Given the description of an element on the screen output the (x, y) to click on. 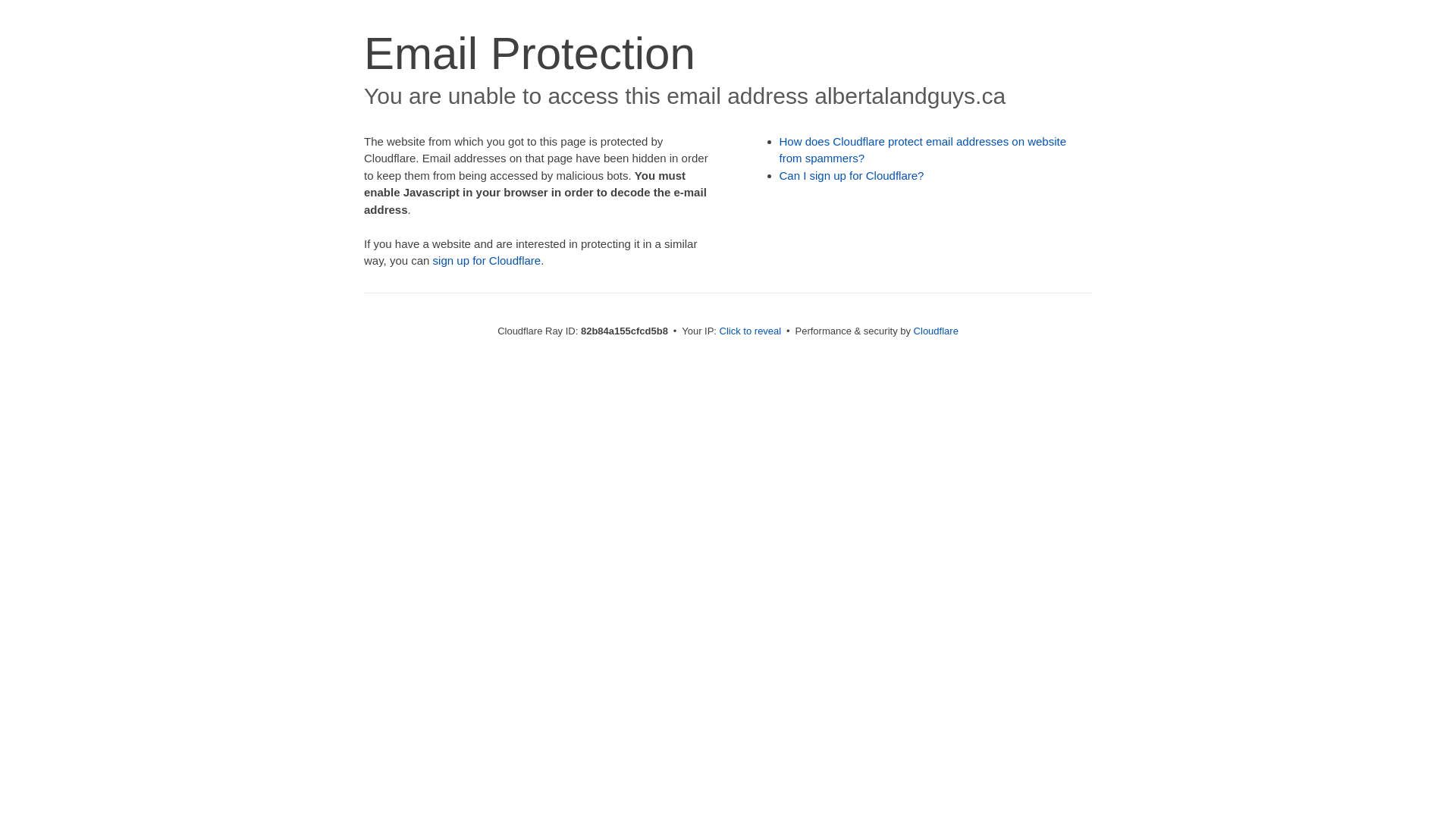
Cloudflare Element type: text (935, 330)
Click to reveal Element type: text (750, 330)
Can I sign up for Cloudflare? Element type: text (851, 175)
sign up for Cloudflare Element type: text (487, 260)
